Given the description of an element on the screen output the (x, y) to click on. 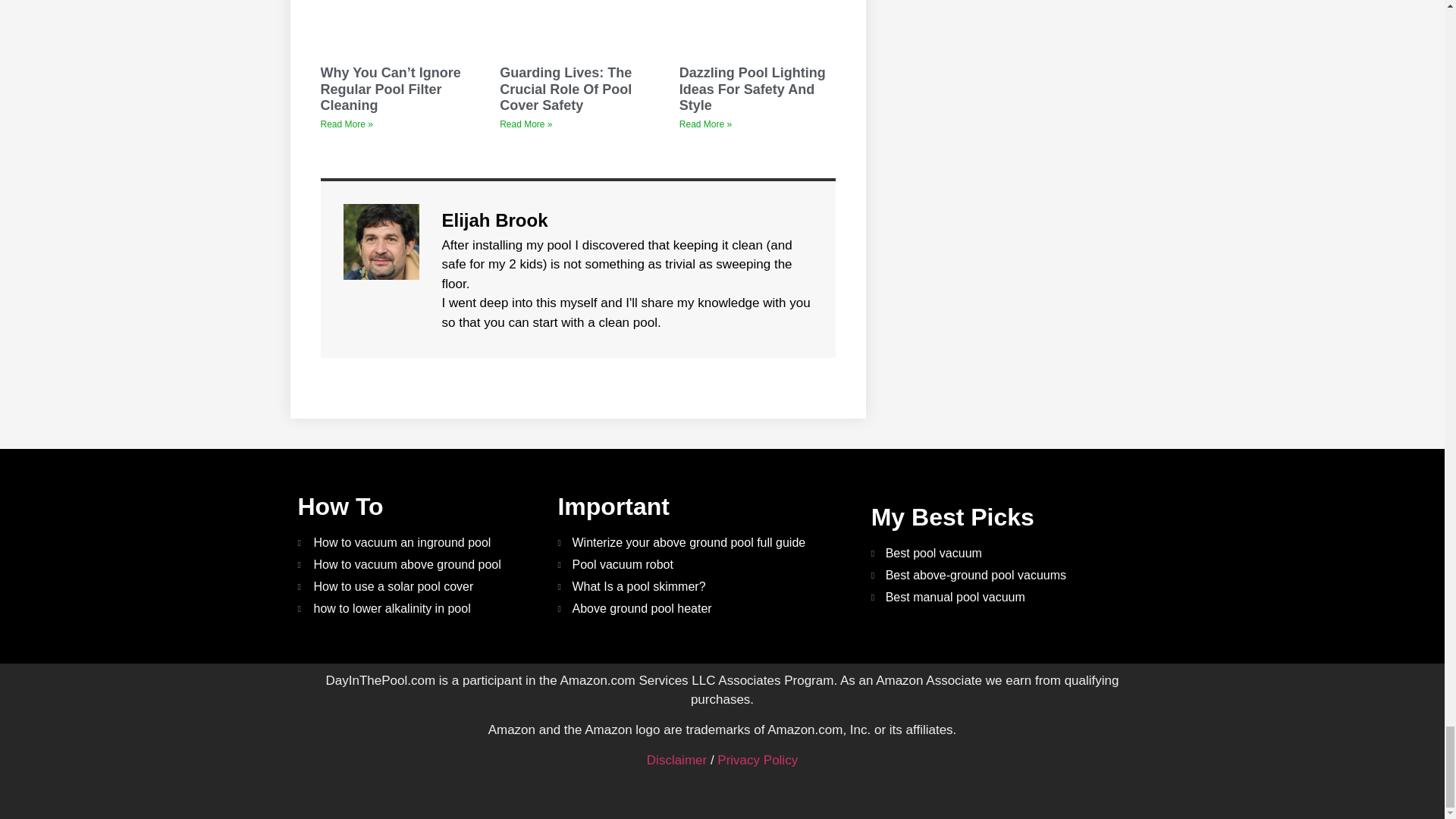
Dazzling Pool Lighting Ideas For Safety And Style (752, 89)
Guarding Lives: The Crucial Role Of Pool Cover Safety (565, 89)
